Given the description of an element on the screen output the (x, y) to click on. 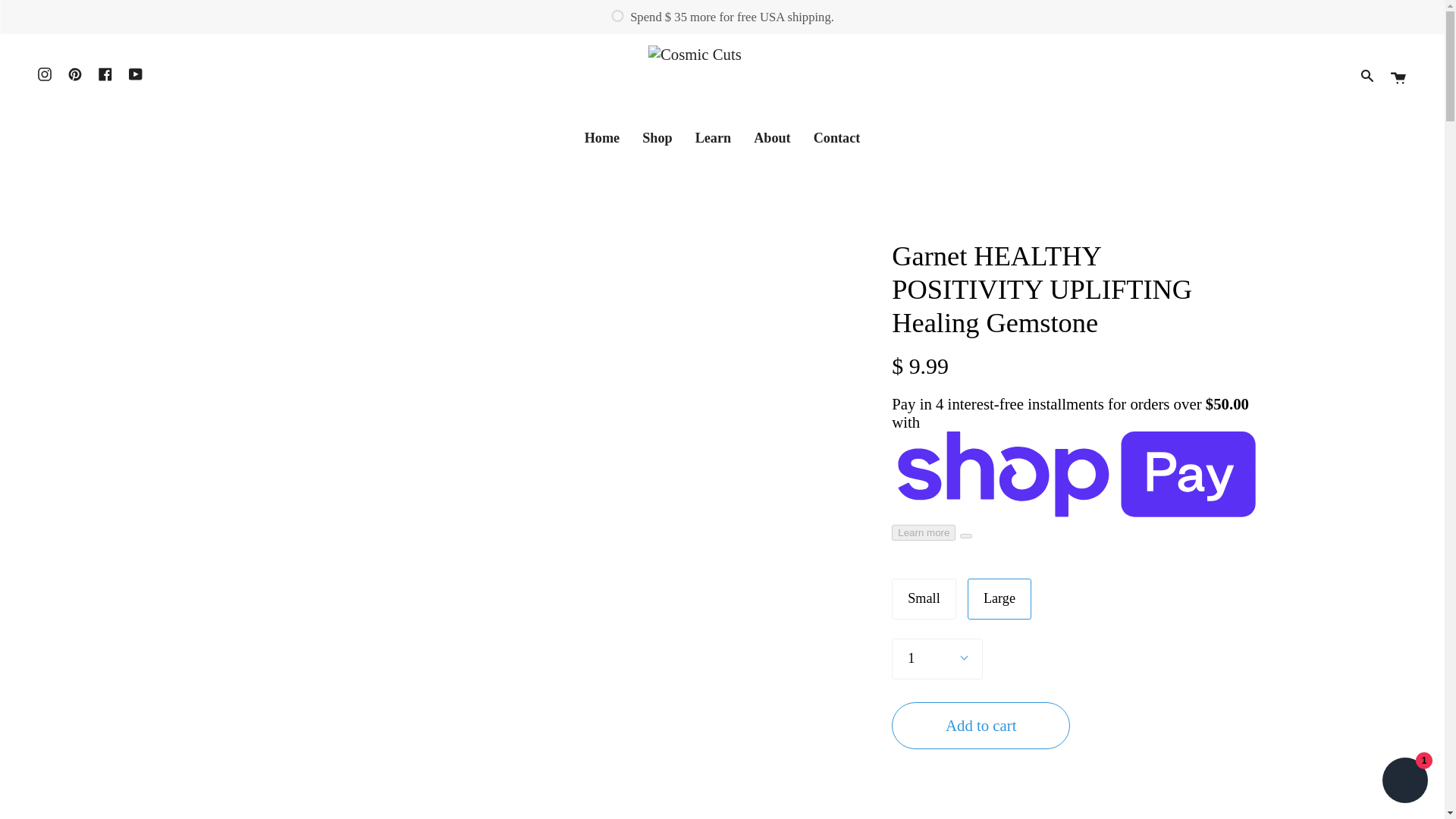
Cosmic Cuts on Instagram (44, 74)
Home (601, 138)
Cart (1397, 75)
Facebook (105, 74)
Cosmic Cuts on YouTube (135, 74)
Search (1366, 75)
Cosmic Cuts on Pinterest (74, 74)
YouTube (135, 74)
Learn (713, 138)
Cart (1397, 75)
Cosmic Cuts on Facebook (105, 74)
Instagram (44, 74)
Pinterest (74, 74)
Search (1366, 75)
Shop (656, 138)
